Given the description of an element on the screen output the (x, y) to click on. 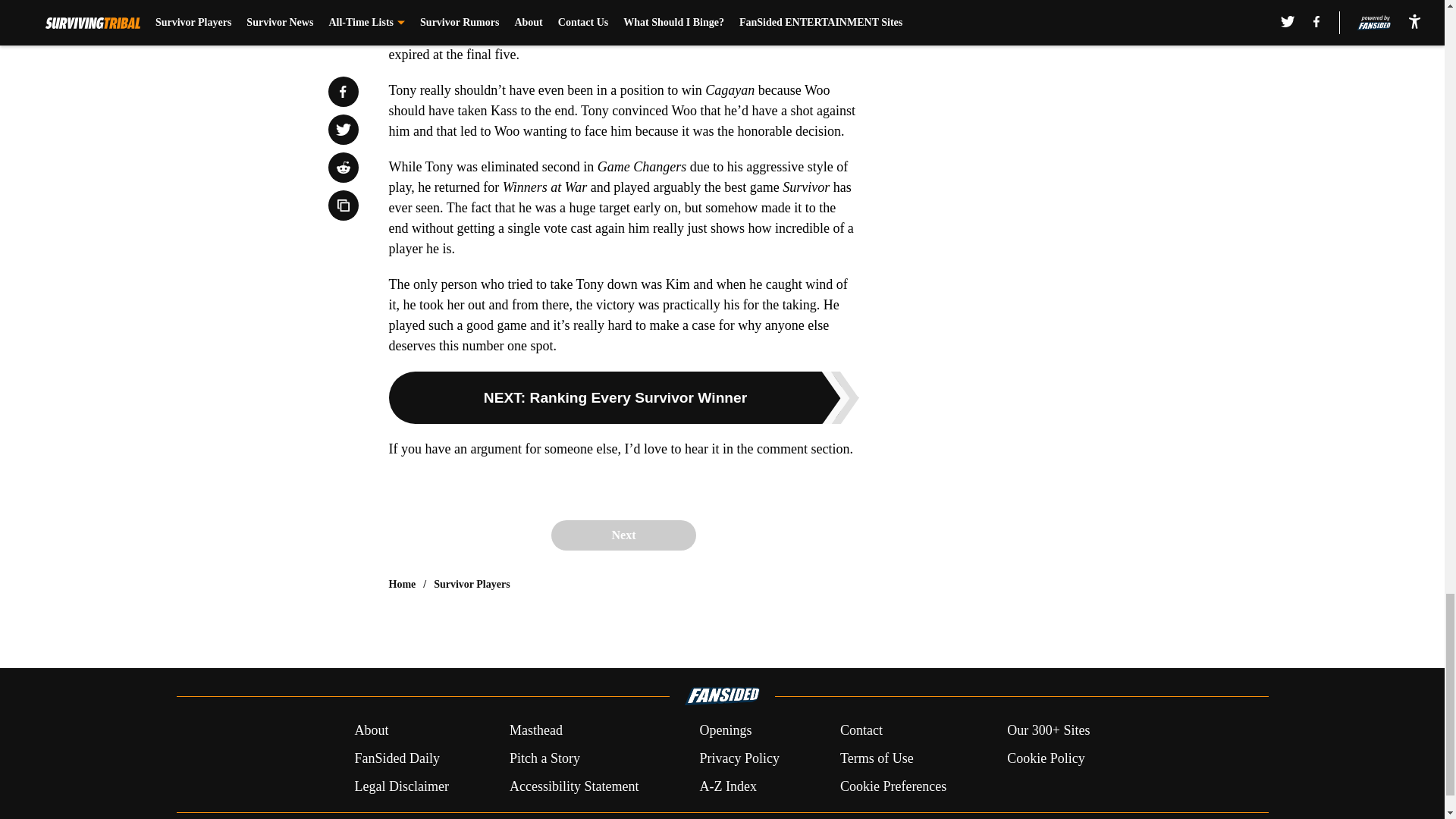
Openings (724, 730)
Next (622, 535)
Terms of Use (877, 758)
FanSided Daily (396, 758)
Pitch a Story (544, 758)
Home (401, 584)
Survivor Players (471, 584)
Cookie Policy (1045, 758)
Contact (861, 730)
Masthead (535, 730)
